Given the description of an element on the screen output the (x, y) to click on. 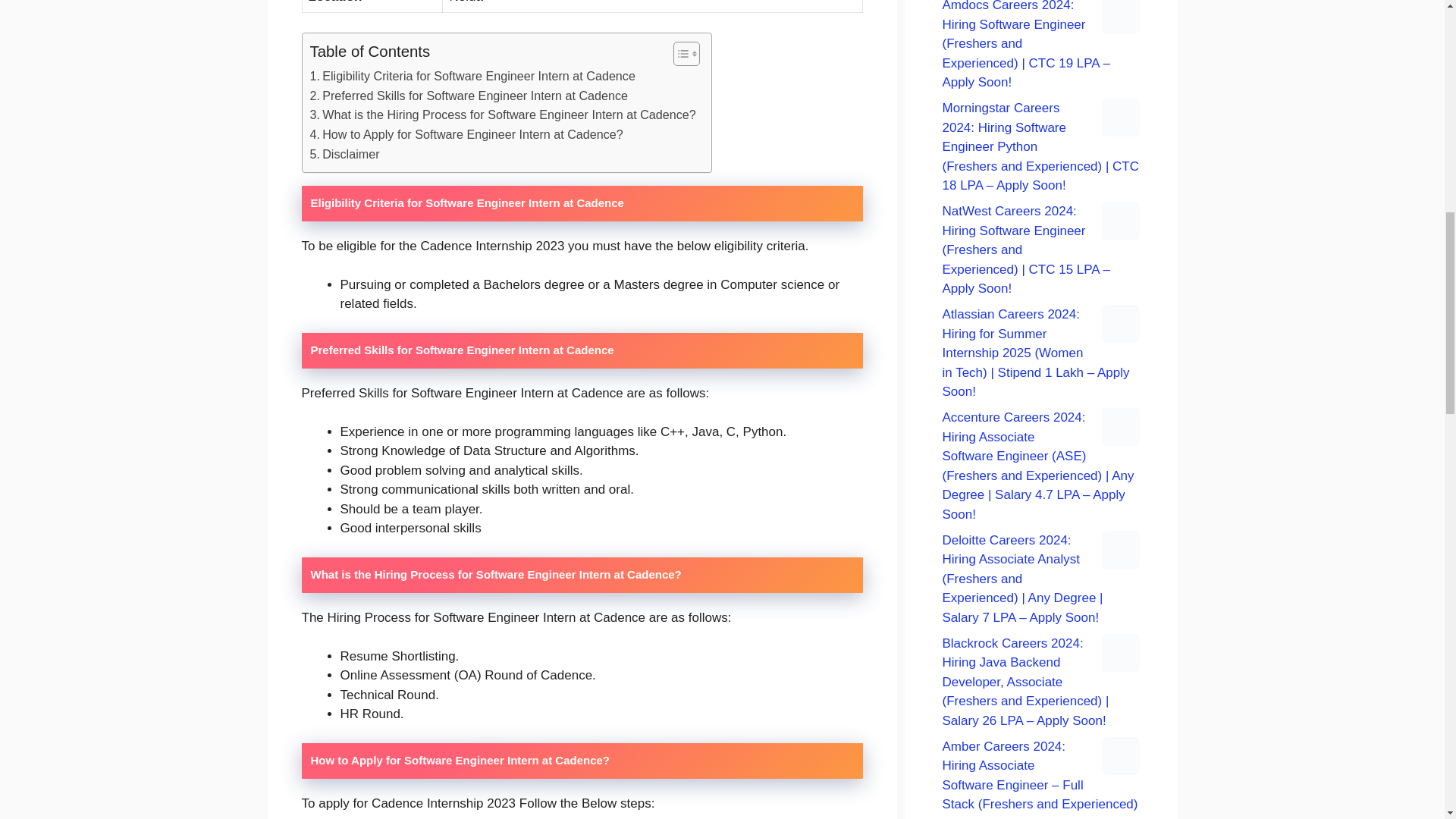
Disclaimer (343, 154)
Preferred Skills for Software Engineer Intern at Cadence (467, 96)
Preferred Skills for Software Engineer Intern at Cadence (467, 96)
Eligibility Criteria for Software Engineer Intern at Cadence (471, 76)
Eligibility Criteria for Software Engineer Intern at Cadence (471, 76)
How to Apply for Software Engineer Intern at Cadence? (465, 134)
How to Apply for Software Engineer Intern at Cadence? (465, 134)
Disclaimer (343, 154)
